Given the description of an element on the screen output the (x, y) to click on. 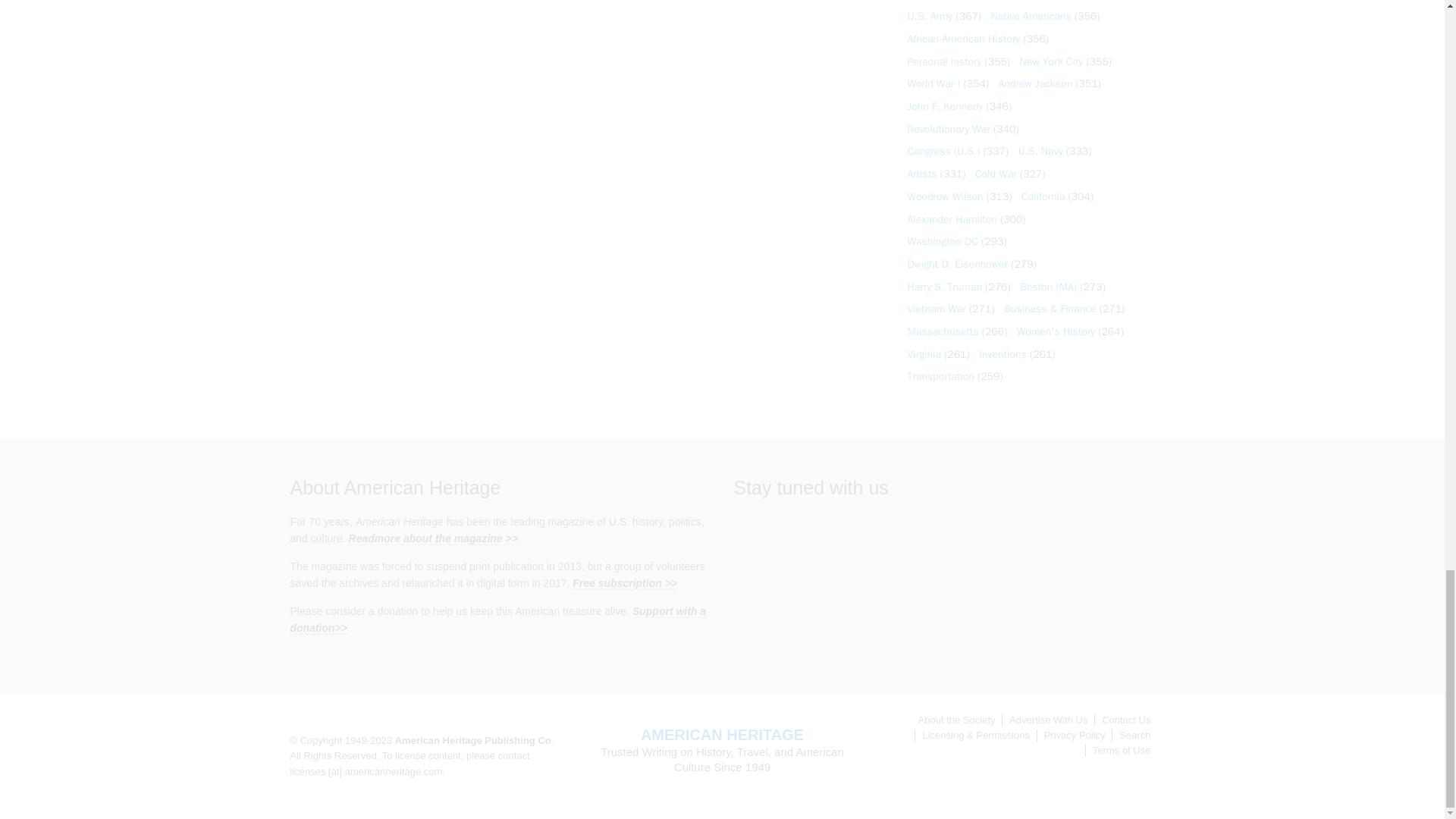
Home (721, 734)
